Given the description of an element on the screen output the (x, y) to click on. 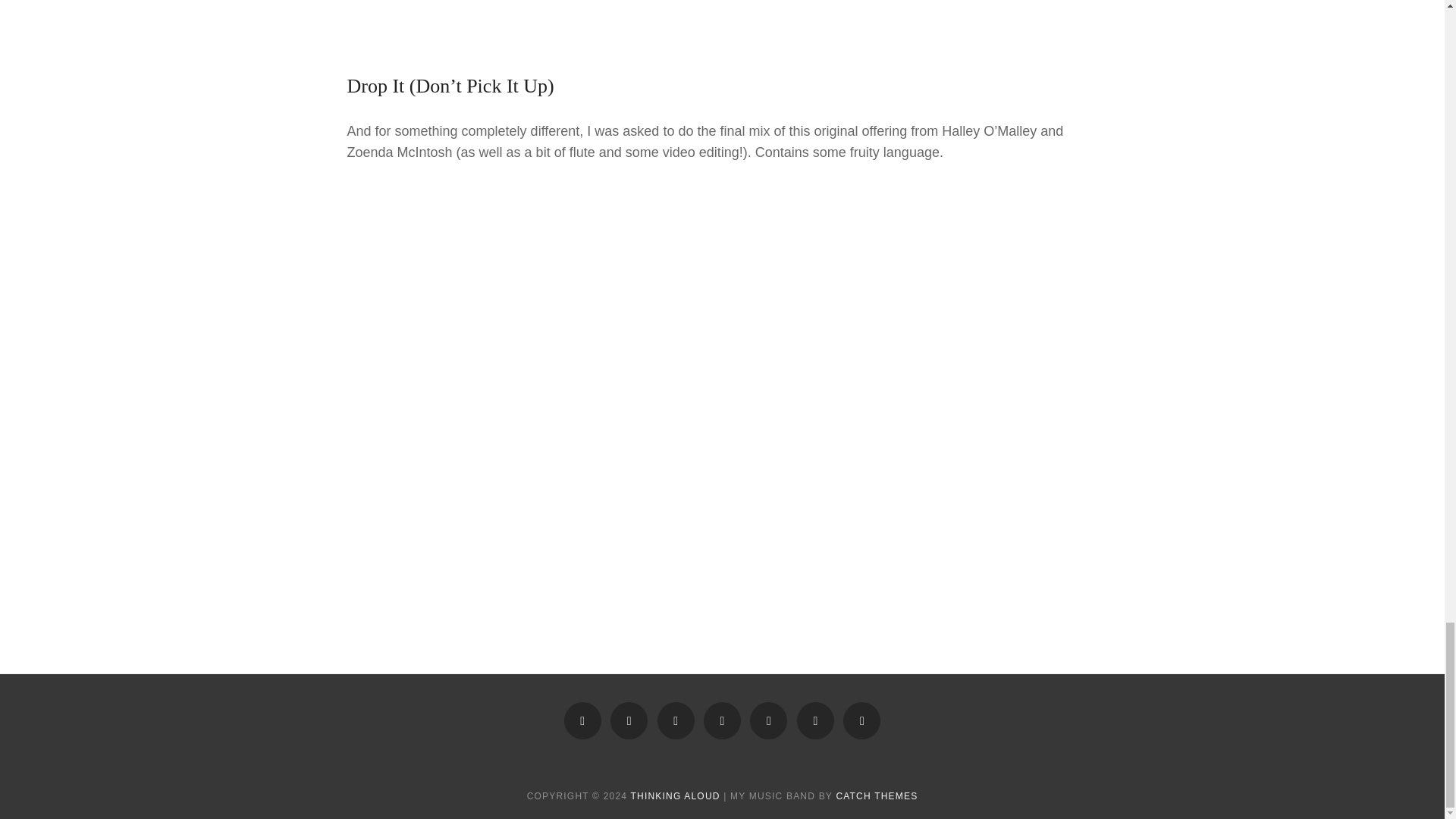
Thinking Aloud on Bandcamp (628, 720)
Thinking Aloud on YouTube (582, 720)
The Aeon Wanderers on YouTube (768, 720)
Home (722, 720)
Thinking Aloud on Facebook (676, 720)
